Given the description of an element on the screen output the (x, y) to click on. 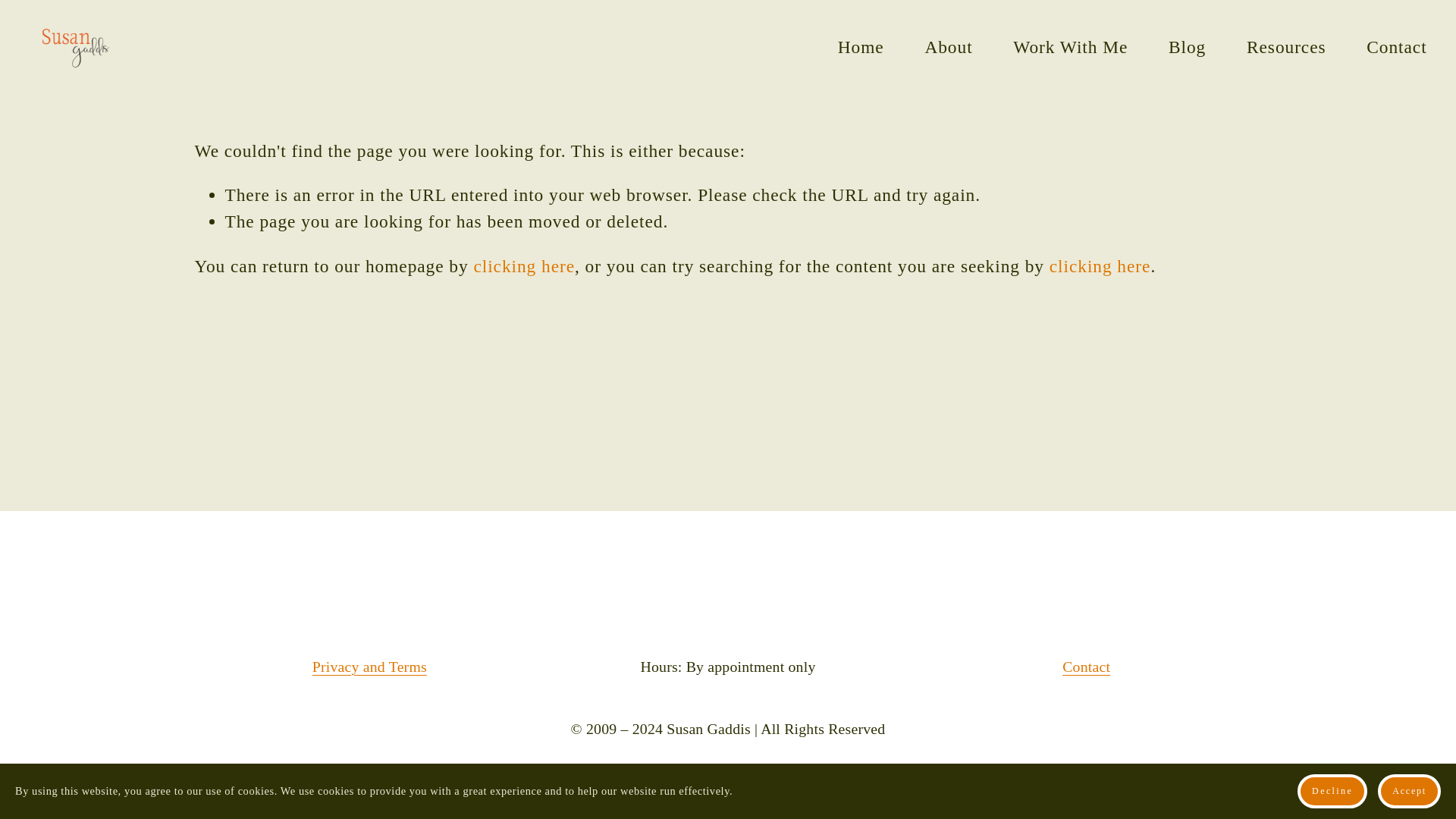
About (948, 47)
Accept (1409, 790)
Blog (1187, 47)
Privacy and Terms (369, 667)
clicking here (1100, 266)
Resources (1286, 47)
Contact (1085, 667)
Work With Me (1069, 47)
Home (860, 47)
Decline (1332, 790)
